Given the description of an element on the screen output the (x, y) to click on. 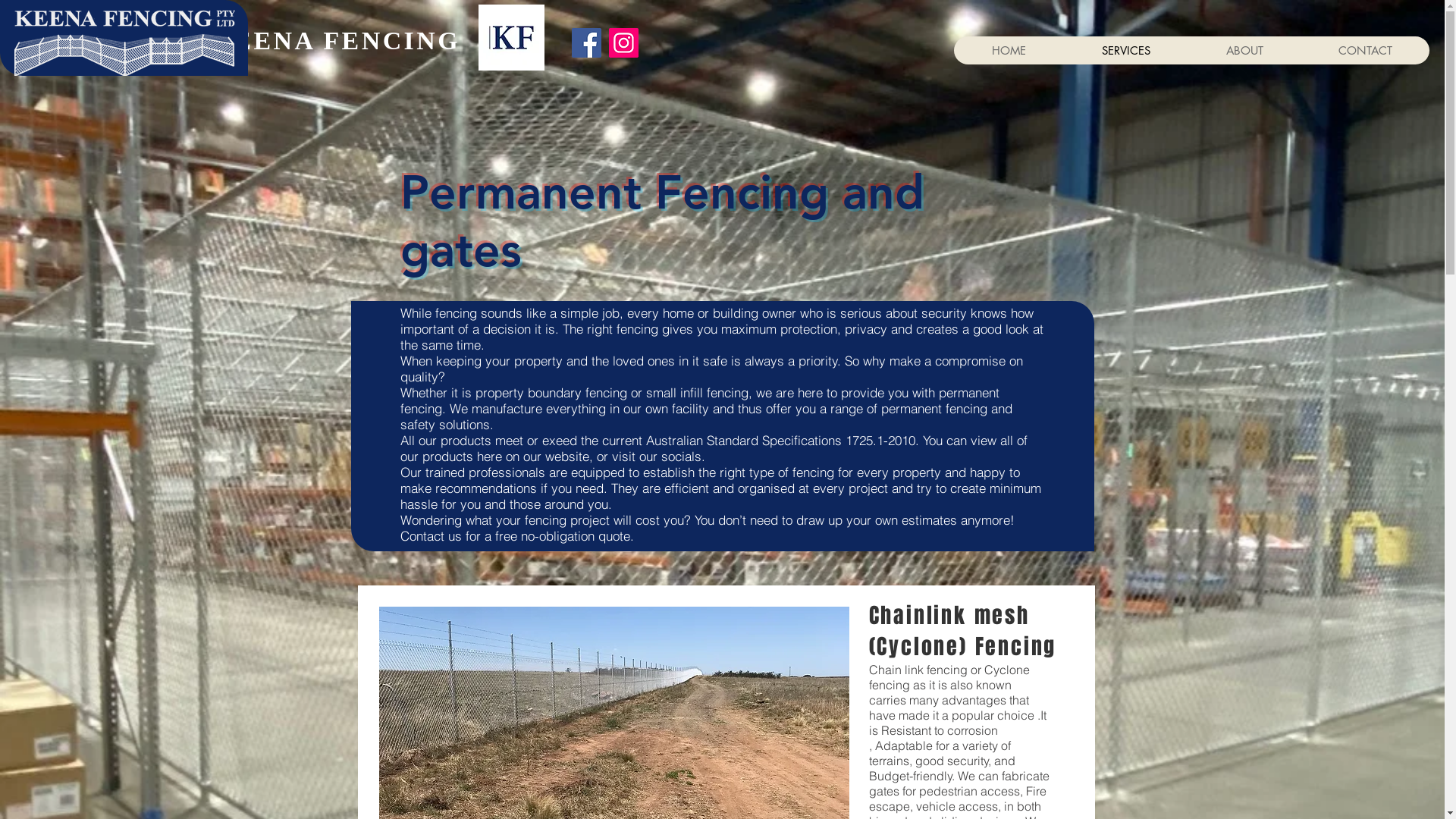
SERVICES Element type: text (1125, 50)
ABOUT Element type: text (1243, 50)
CONTACT Element type: text (1364, 50)
HOME Element type: text (1008, 50)
